Given the description of an element on the screen output the (x, y) to click on. 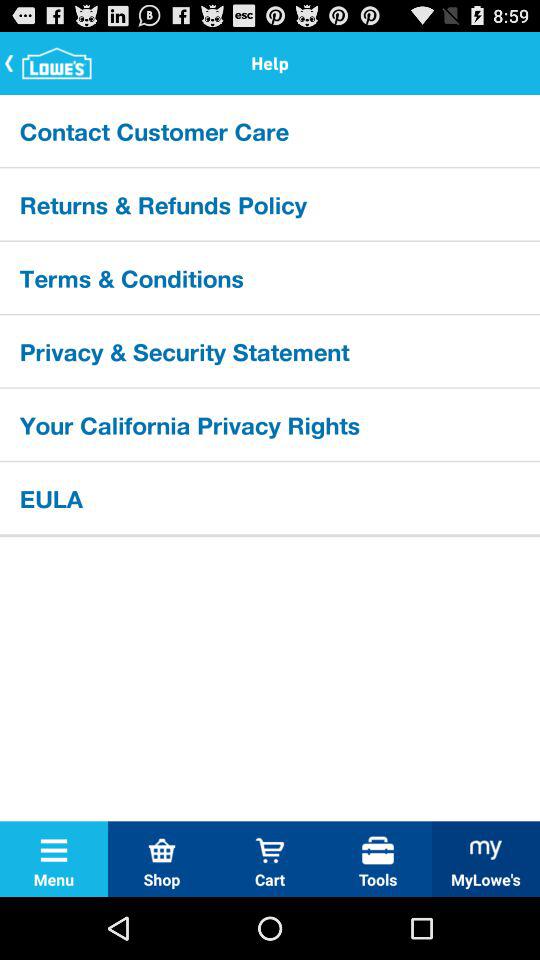
swipe until contact customer care icon (270, 130)
